Given the description of an element on the screen output the (x, y) to click on. 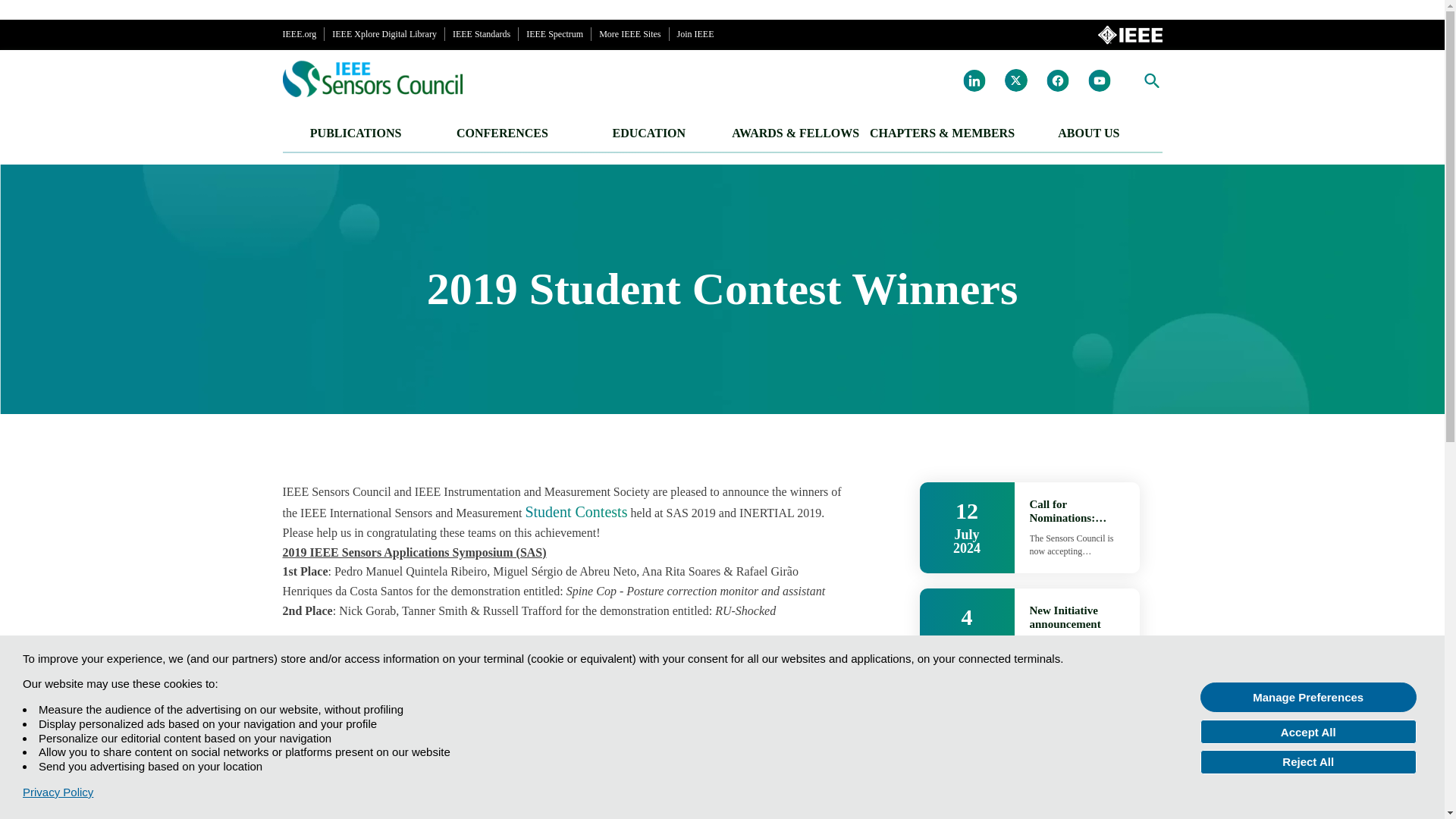
IEEE.org (298, 34)
IEEE Standards (481, 34)
EDUCATION (648, 136)
PUBLICATIONS (355, 136)
IEEE Spectrum (554, 34)
ABOUT US (1087, 136)
Manage Preferences (1307, 696)
Accept All (1307, 731)
IEEE Xplore Digital Library (383, 34)
Join IEEE (695, 34)
More IEEE Sites (629, 34)
Privacy Policy (58, 792)
Reject All (1307, 761)
CONFERENCES (502, 136)
